Given the description of an element on the screen output the (x, y) to click on. 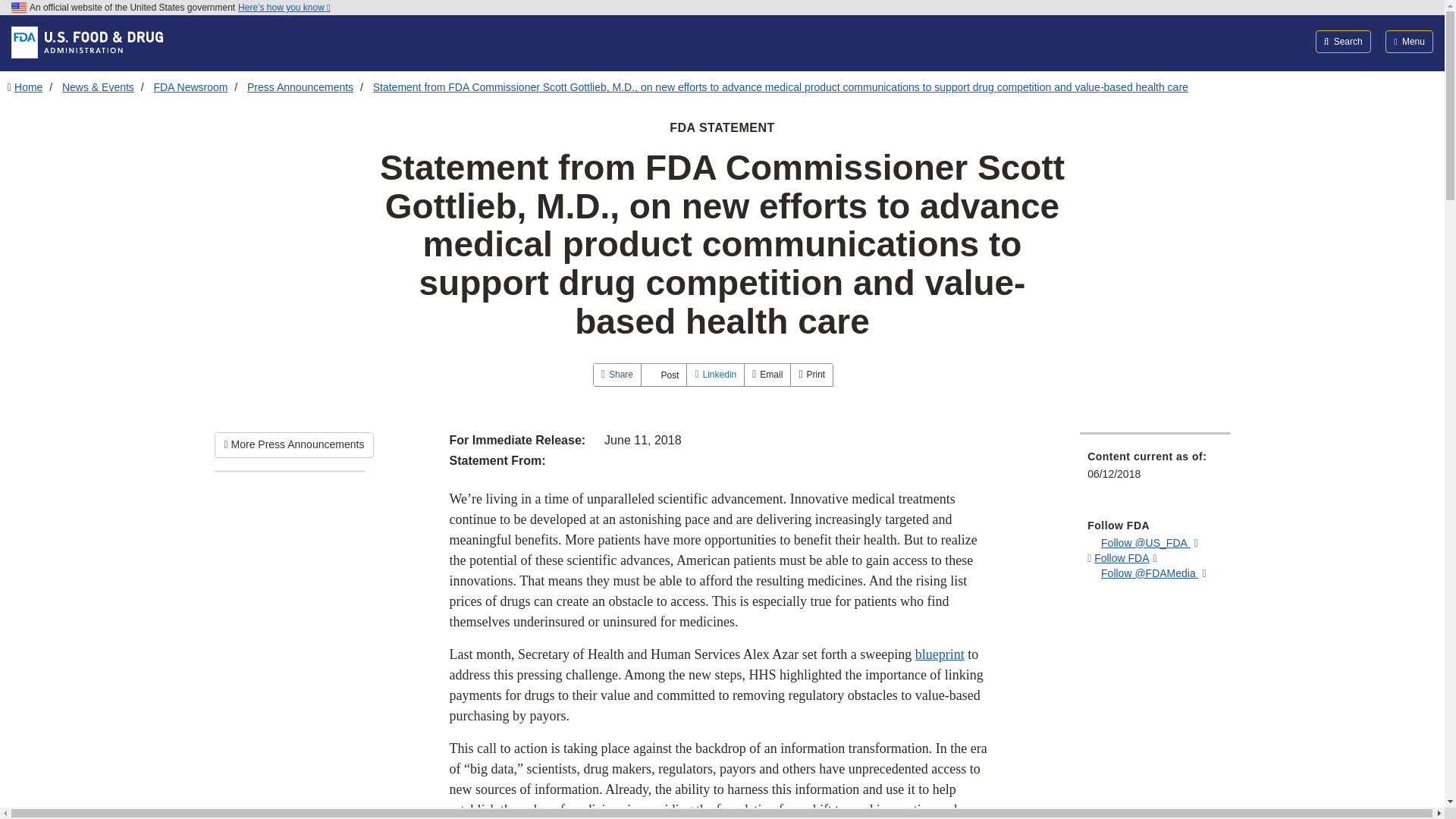
  Search (1343, 41)
  Menu (1409, 41)
Print this page (811, 373)
